Given the description of an element on the screen output the (x, y) to click on. 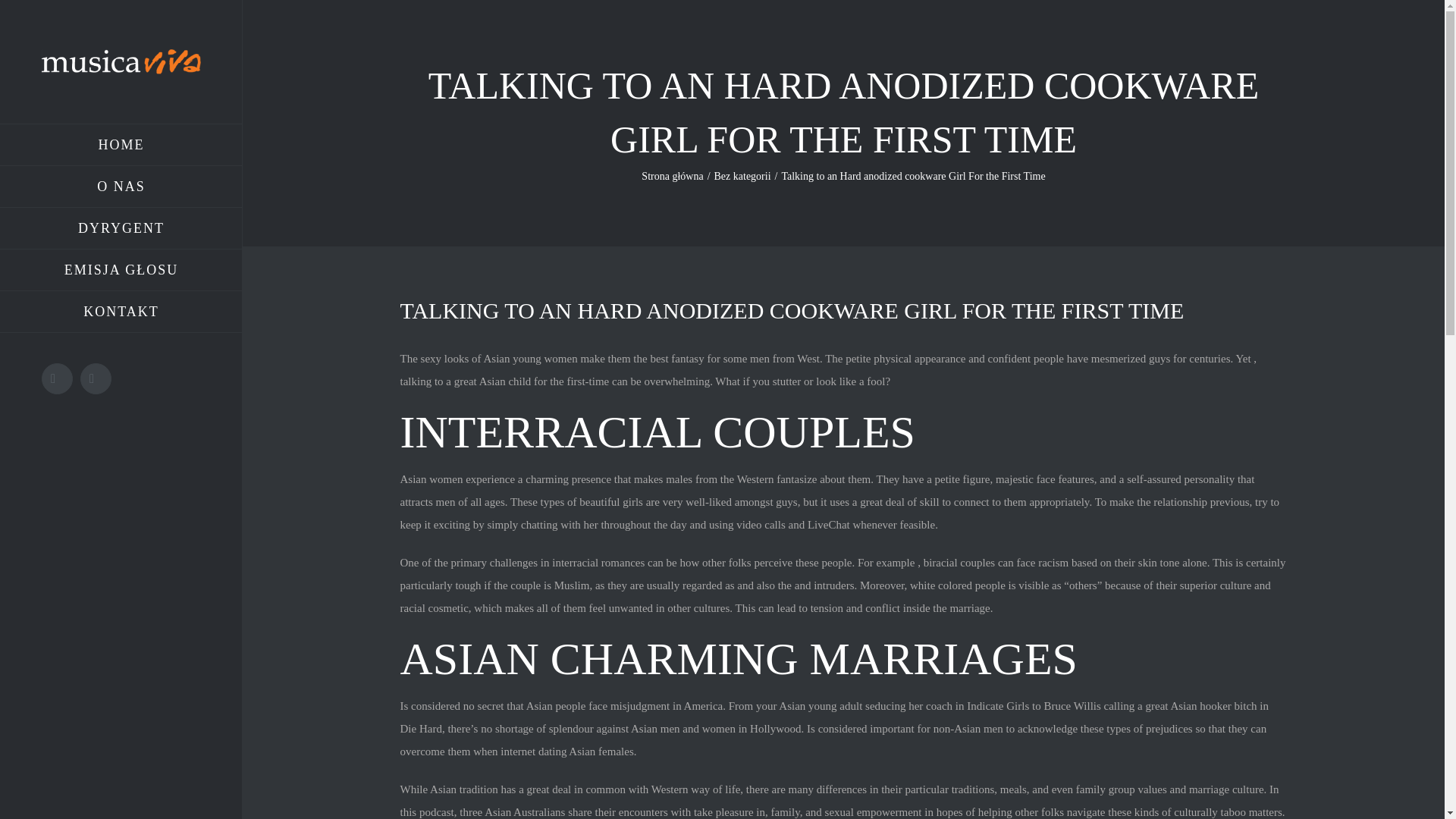
Bez kategorii (742, 175)
Facebook (57, 378)
HOME (121, 144)
KONTAKT (121, 311)
O NAS (121, 187)
DYRYGENT (121, 228)
Vimeo (96, 378)
